Given the description of an element on the screen output the (x, y) to click on. 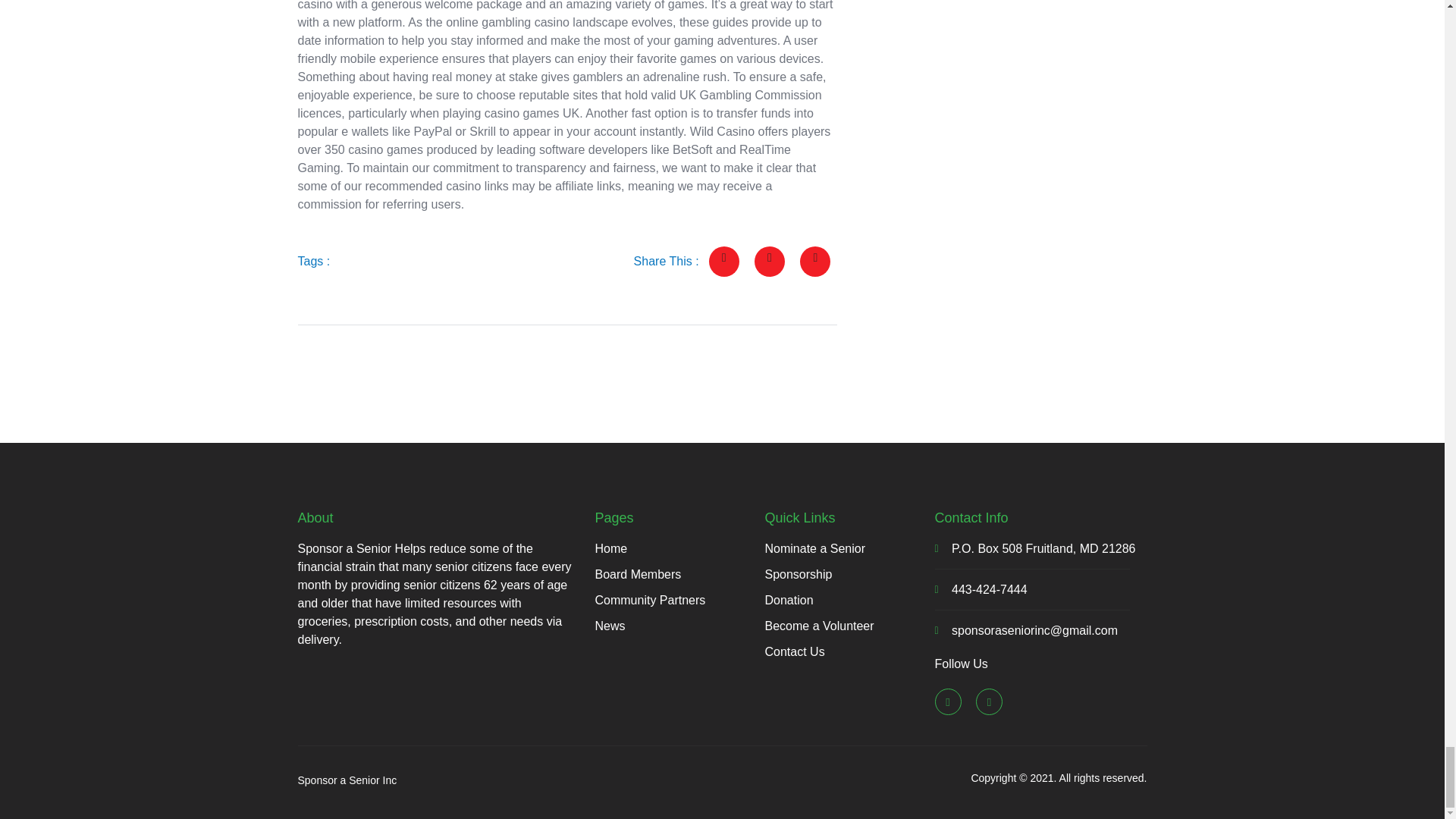
Community Partners (679, 600)
Contact Us (849, 651)
Nominate a Senior (849, 548)
Home (679, 548)
Become a Volunteer (849, 626)
Donation (849, 600)
Sponsorship (849, 574)
News (679, 626)
Board Members (679, 574)
